Given the description of an element on the screen output the (x, y) to click on. 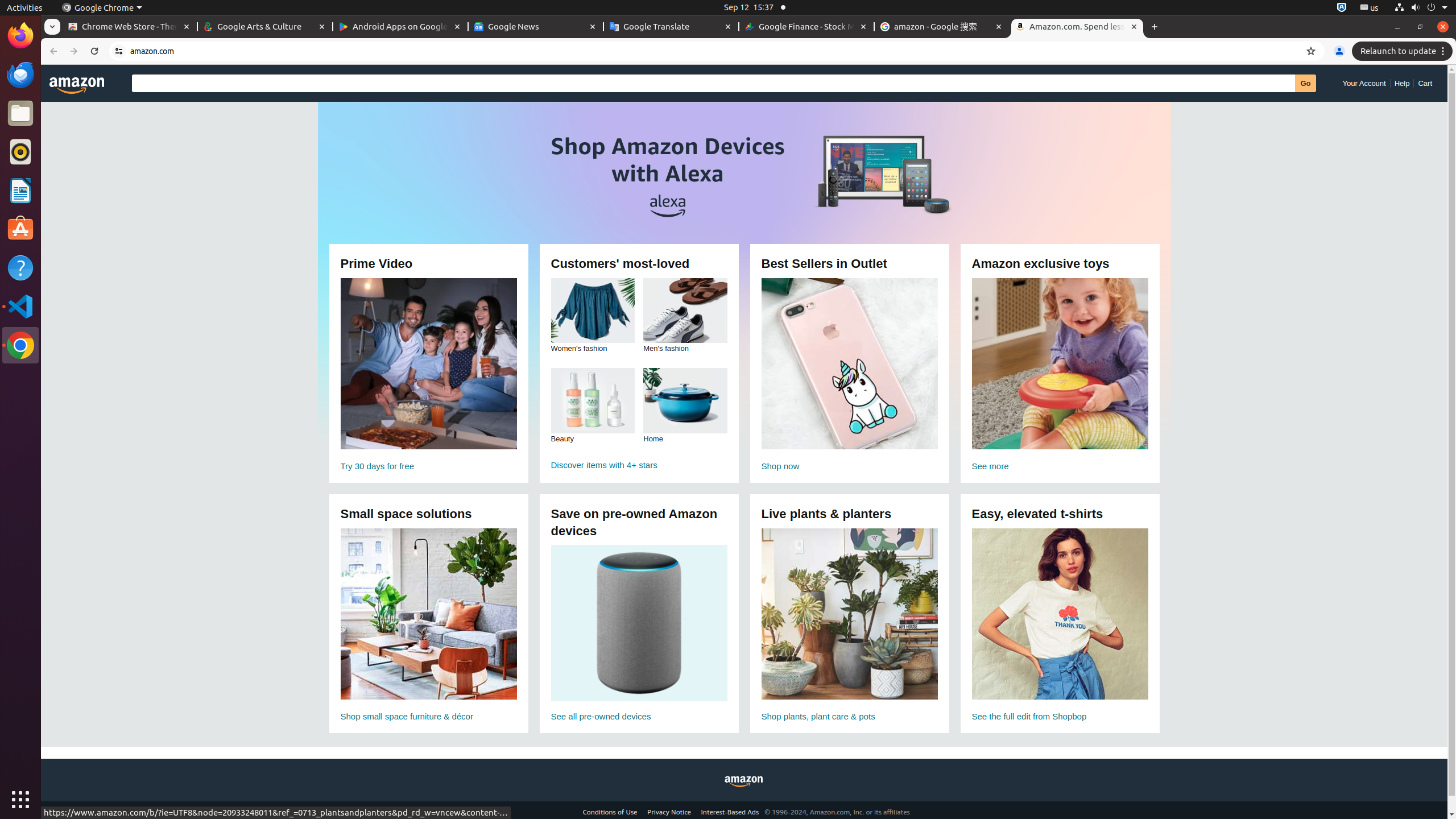
Small space furniture solutions Shop small space furniture & décor Element type: link (428, 625)
Google Arts & Culture - Memory usage - 57.6 MB Element type: page-tab (264, 26)
Google Chrome Element type: menu (101, 7)
Live plants & planters Shop plants, plant care & pots Element type: link (849, 625)
:1.21/StatusNotifierItem Element type: menu (1369, 7)
